Given the description of an element on the screen output the (x, y) to click on. 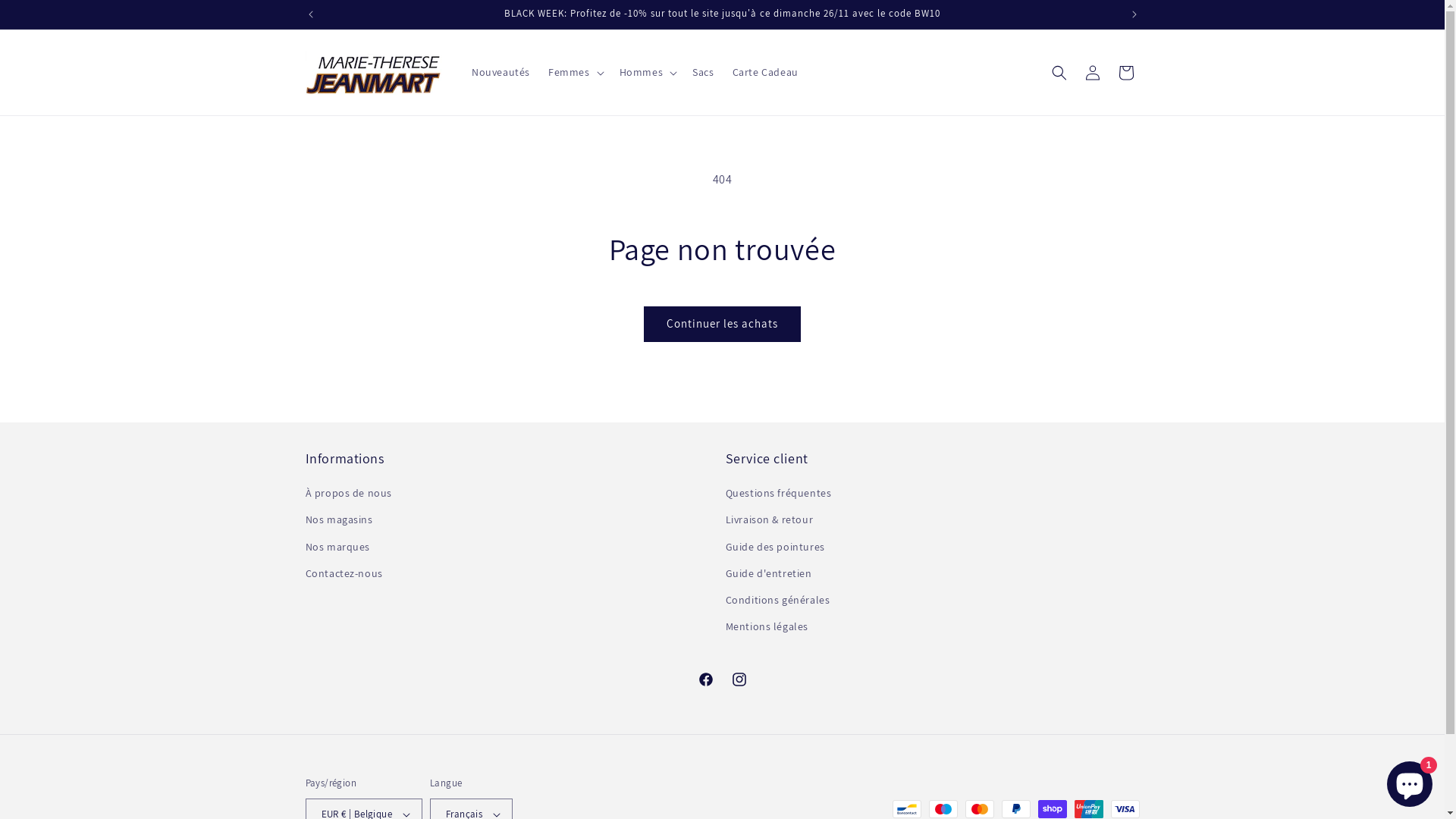
Guide des pointures Element type: text (774, 546)
Carte Cadeau Element type: text (765, 71)
Nos marques Element type: text (337, 546)
Instagram Element type: text (738, 679)
Chat de la boutique en ligne Shopify Element type: hover (1409, 780)
Sacs Element type: text (702, 71)
Contactez-nous Element type: text (343, 573)
Facebook Element type: text (704, 679)
Guide d'entretien Element type: text (767, 573)
Continuer les achats Element type: text (721, 324)
Nos magasins Element type: text (338, 519)
Livraison & retour Element type: text (768, 519)
Panier Element type: text (1125, 72)
Connexion Element type: text (1091, 72)
